Given the description of an element on the screen output the (x, y) to click on. 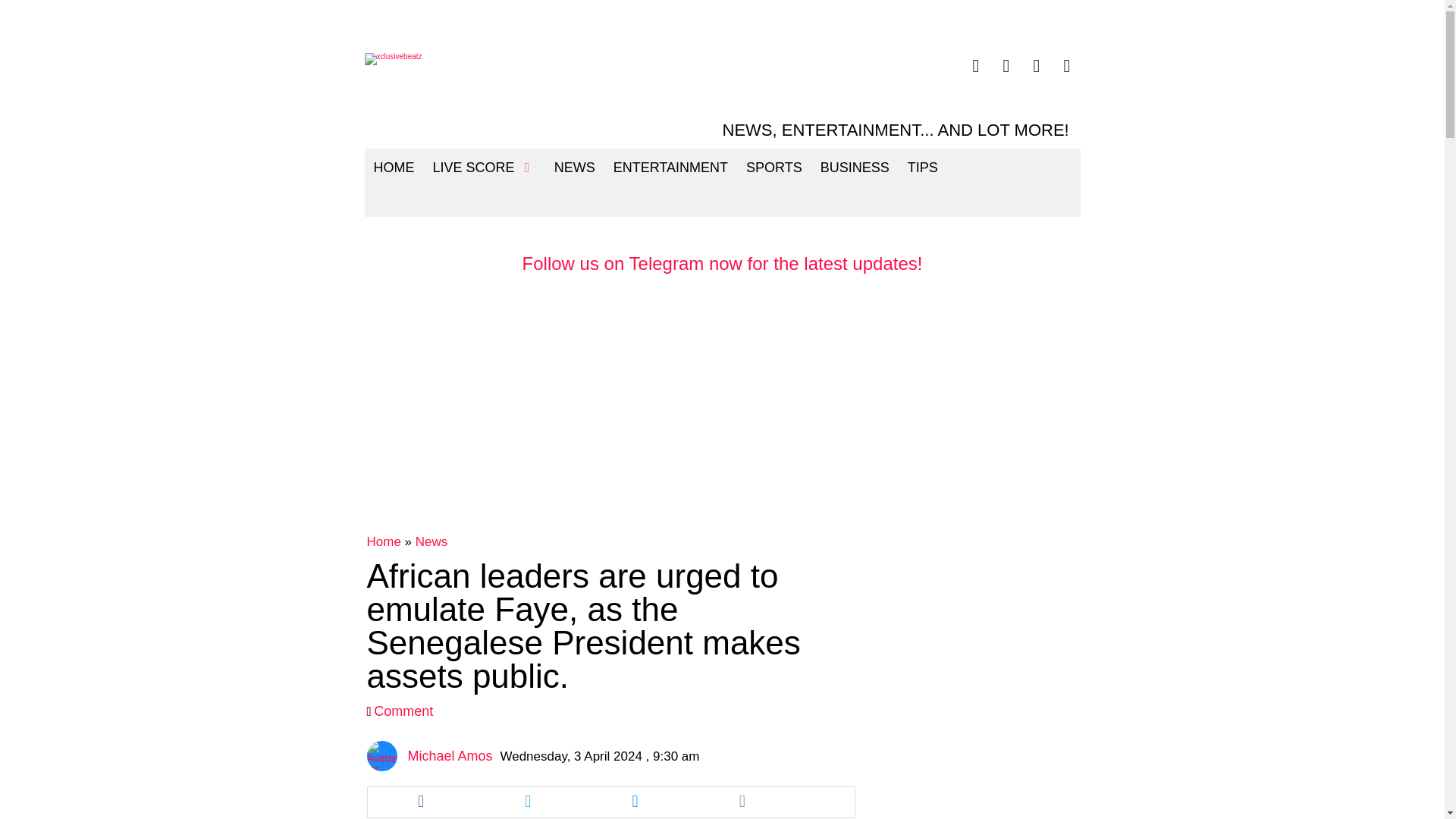
Home (383, 541)
Gravatar for Michael Amos (381, 756)
Share this article via twitter (527, 802)
Follow us on Telegram now for the latest updates! (722, 263)
ENTERTAINMENT (670, 167)
SPORTS (773, 167)
NEWS (574, 167)
TIPS (922, 167)
BUSINESS (854, 167)
LIVE SCORE (483, 167)
